Given the description of an element on the screen output the (x, y) to click on. 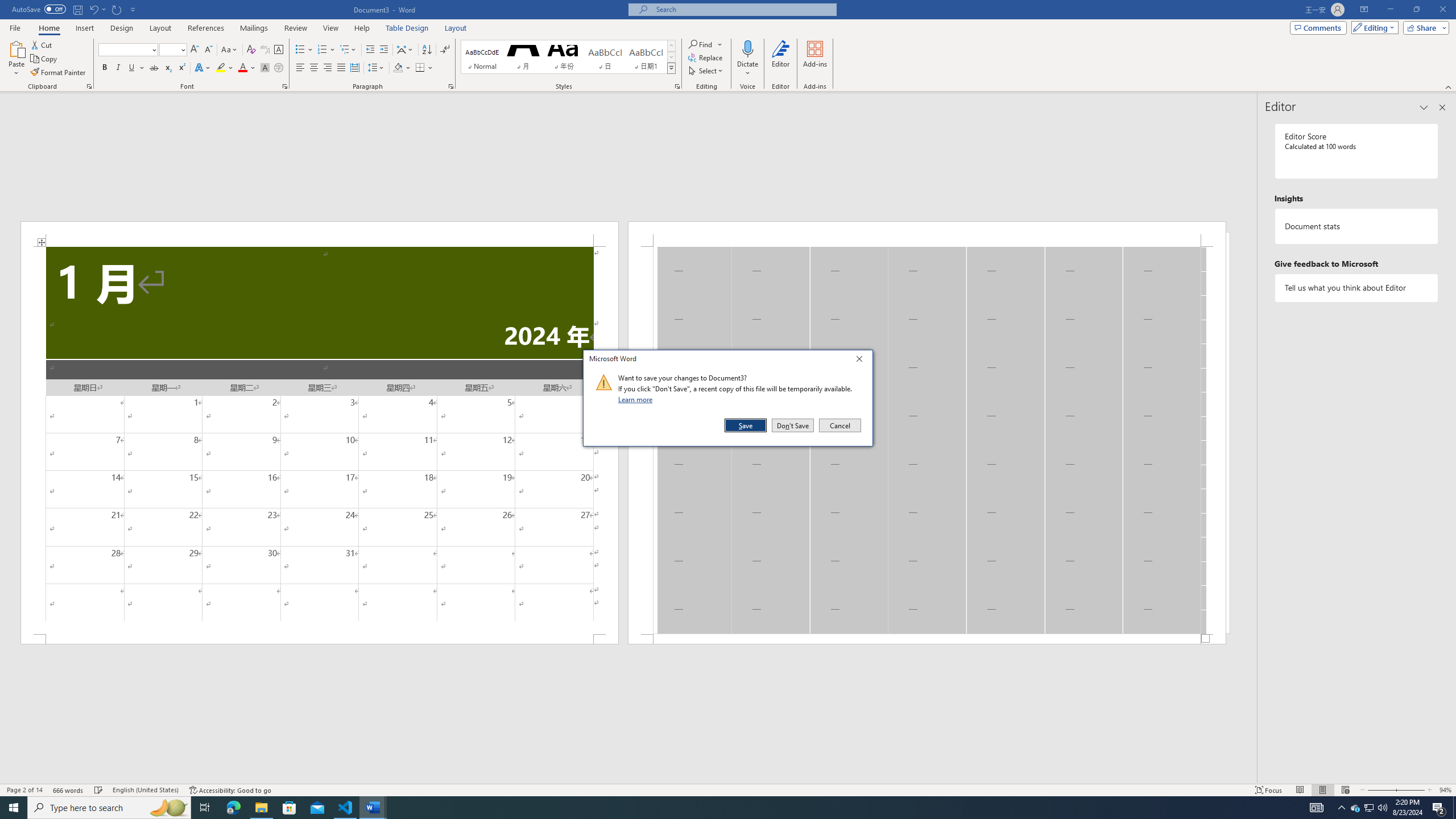
AutomationID: QuickStylesGallery (568, 56)
Align Left (300, 67)
Font Color (246, 67)
Line and Paragraph Spacing (376, 67)
Open (182, 49)
Learn more (636, 399)
Mode (1372, 27)
Shrink Font (208, 49)
Row up (670, 45)
Asian Layout (405, 49)
Page Number Page 2 of 14 (24, 790)
